Given the description of an element on the screen output the (x, y) to click on. 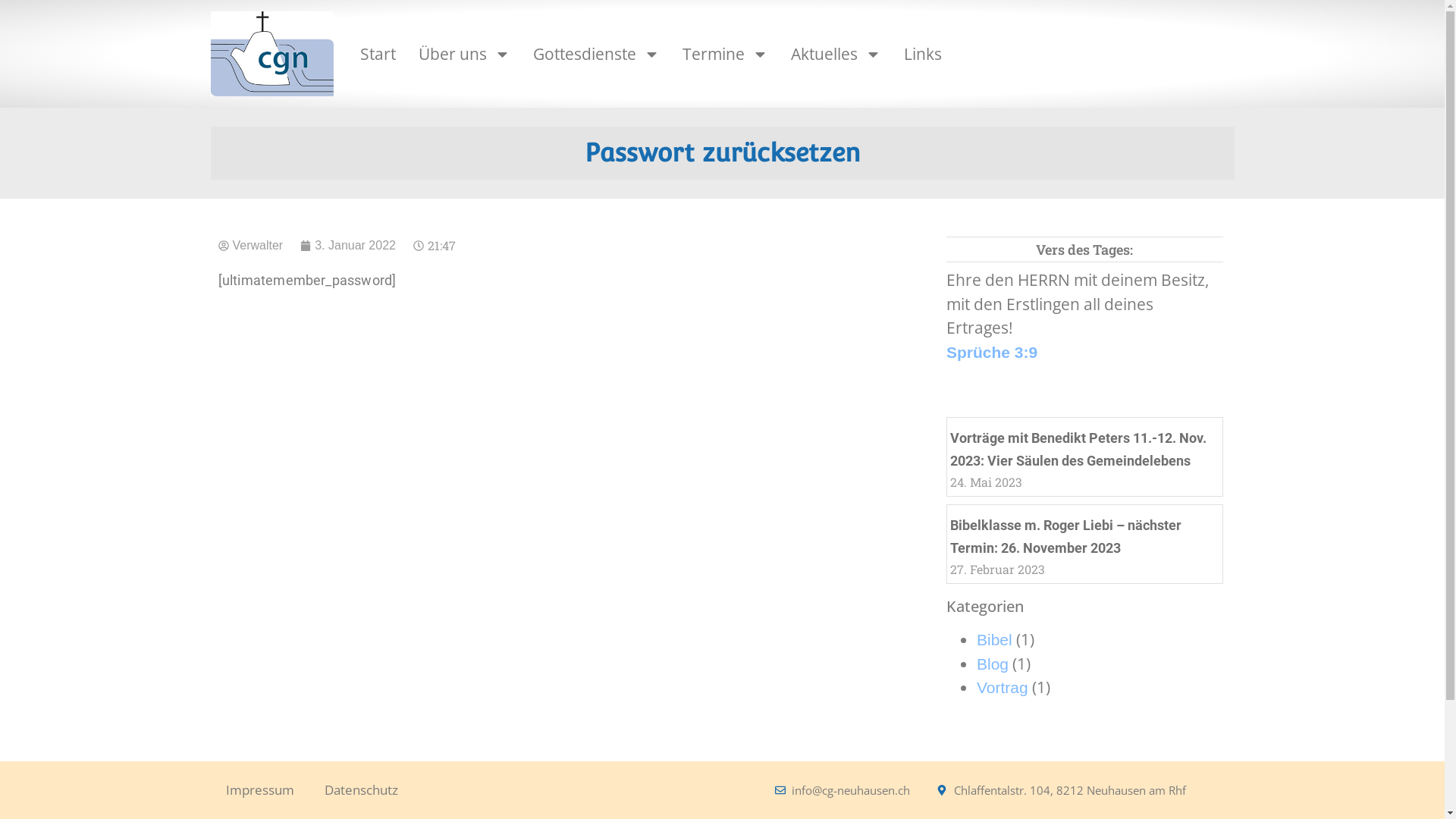
Blog Element type: text (992, 663)
3. Januar 2022 Element type: text (347, 245)
Termine Element type: text (724, 53)
Aktuelles Element type: text (835, 53)
Verwalter Element type: text (250, 245)
Datenschutz Element type: text (361, 789)
Start Element type: text (376, 53)
Chlaffentalstr. 104, 8212 Neuhausen am Rhf Element type: text (1061, 790)
info@cg-neuhausen.ch Element type: text (842, 790)
Links Element type: text (922, 53)
Vortrag Element type: text (1002, 687)
Impressum Element type: text (259, 789)
Gottesdienste Element type: text (595, 53)
Bibel Element type: text (994, 639)
